Given the description of an element on the screen output the (x, y) to click on. 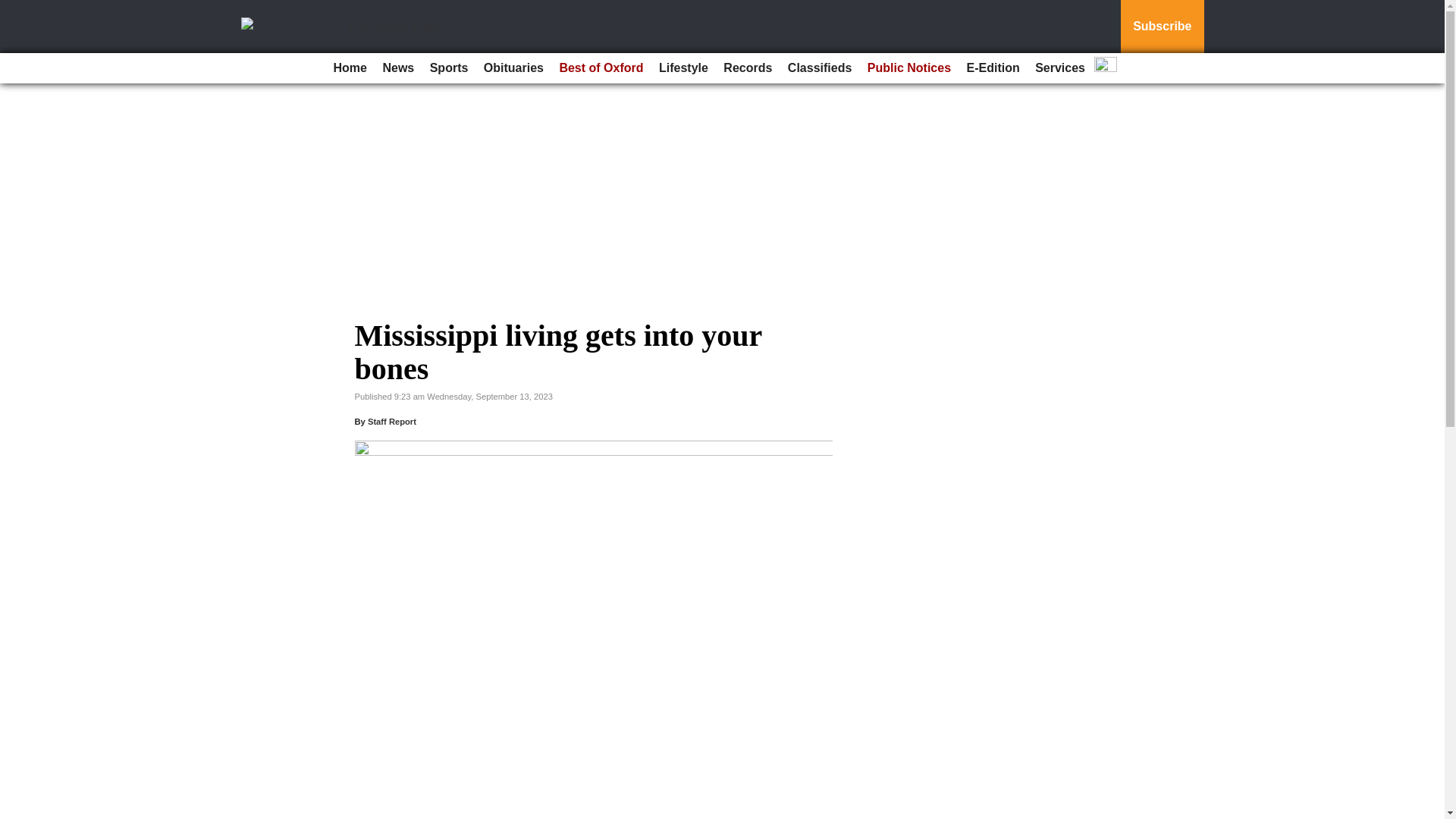
Lifestyle (683, 68)
Obituaries (513, 68)
Best of Oxford (601, 68)
Home (349, 68)
Records (747, 68)
News (397, 68)
Staff Report (392, 420)
Sports (448, 68)
Public Notices (908, 68)
Services (1059, 68)
